Given the description of an element on the screen output the (x, y) to click on. 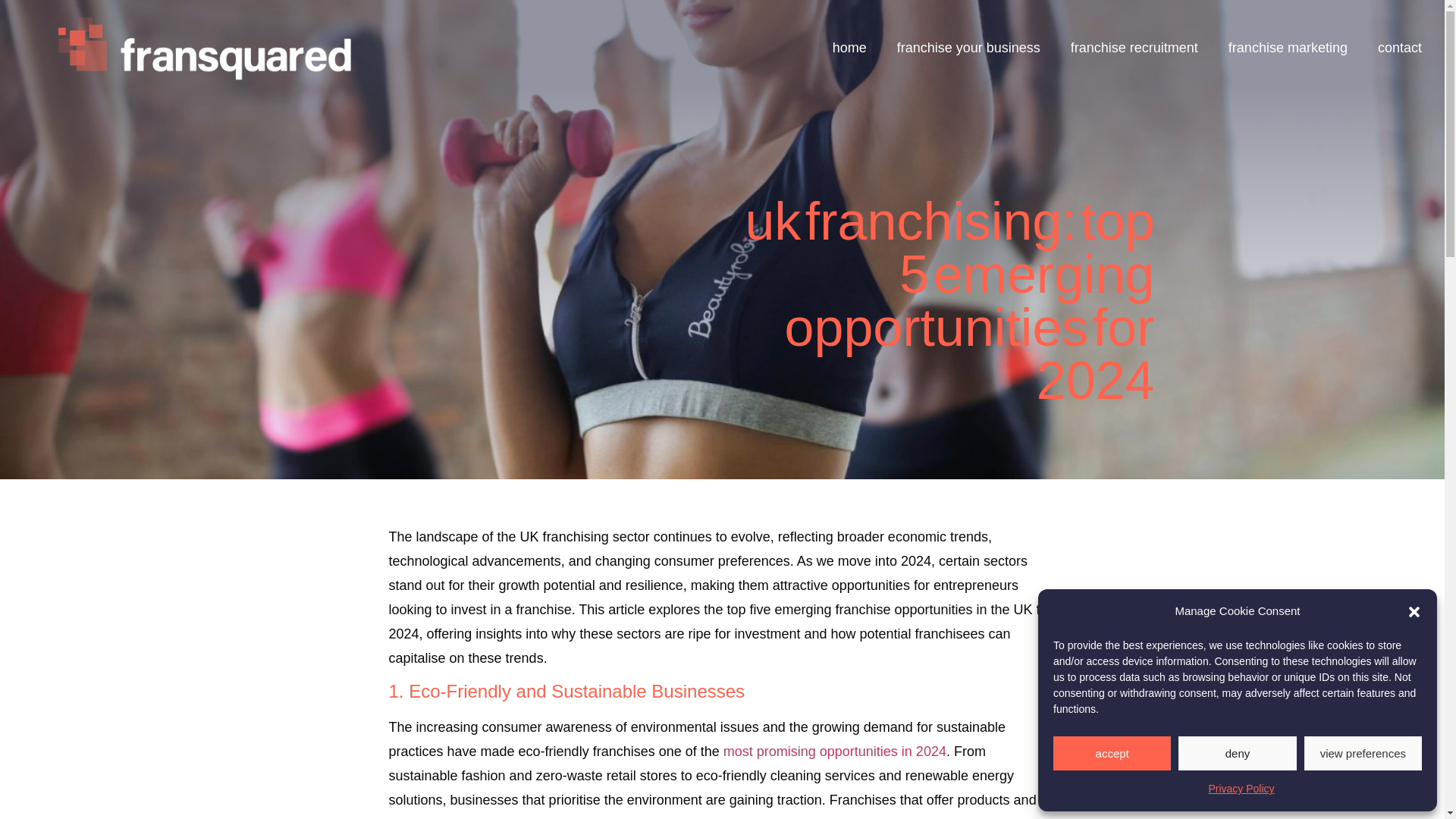
franchise marketing (1287, 47)
accept (1111, 753)
home (849, 47)
franchise your business (968, 47)
most promising opportunities in 2024 (834, 751)
Privacy Policy (1241, 789)
deny (1236, 753)
contact (1399, 47)
view preferences (1363, 753)
franchise recruitment (1133, 47)
